Given the description of an element on the screen output the (x, y) to click on. 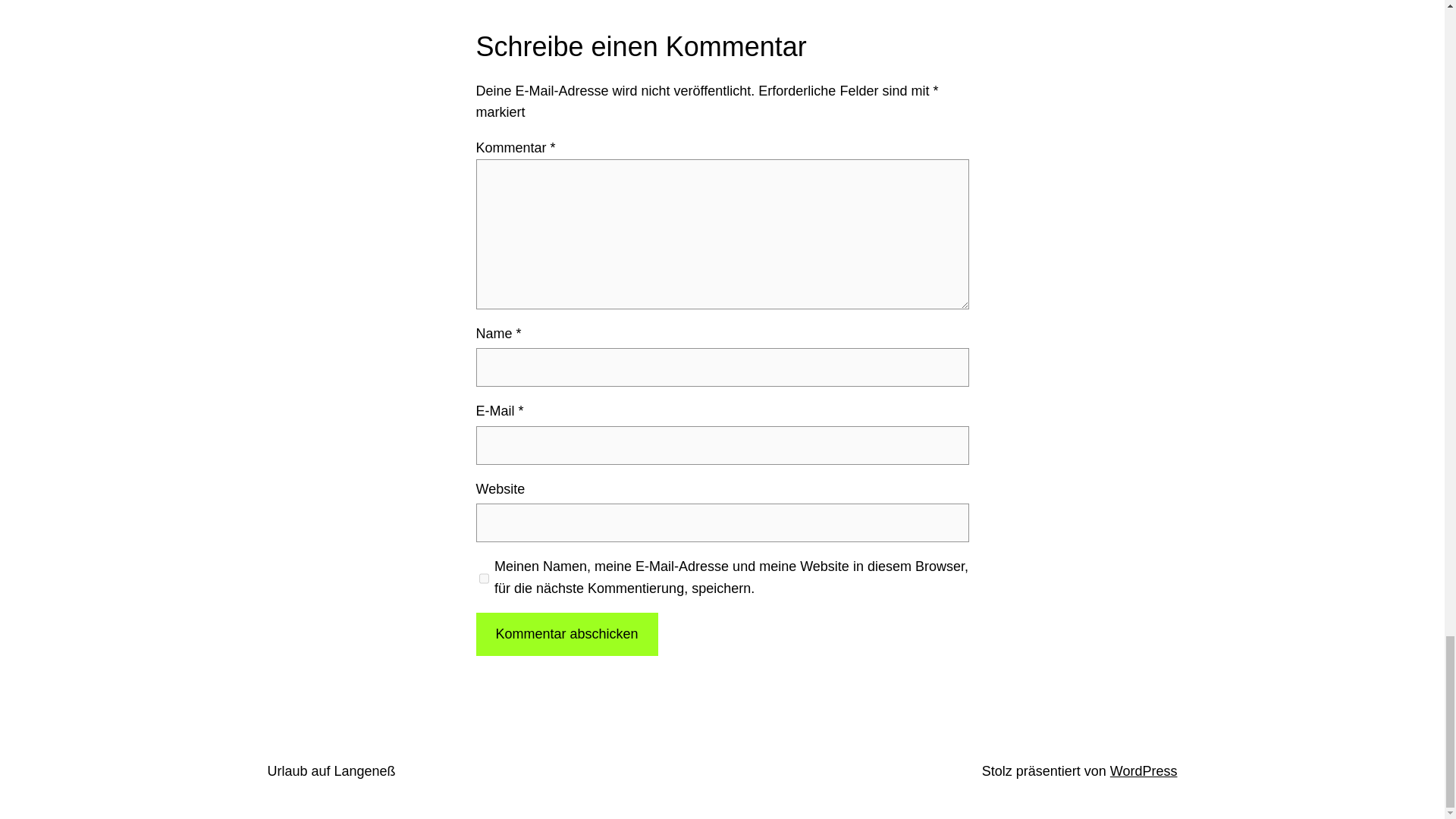
WordPress (1143, 770)
Kommentar abschicken (567, 634)
Kommentar abschicken (567, 634)
